Given the description of an element on the screen output the (x, y) to click on. 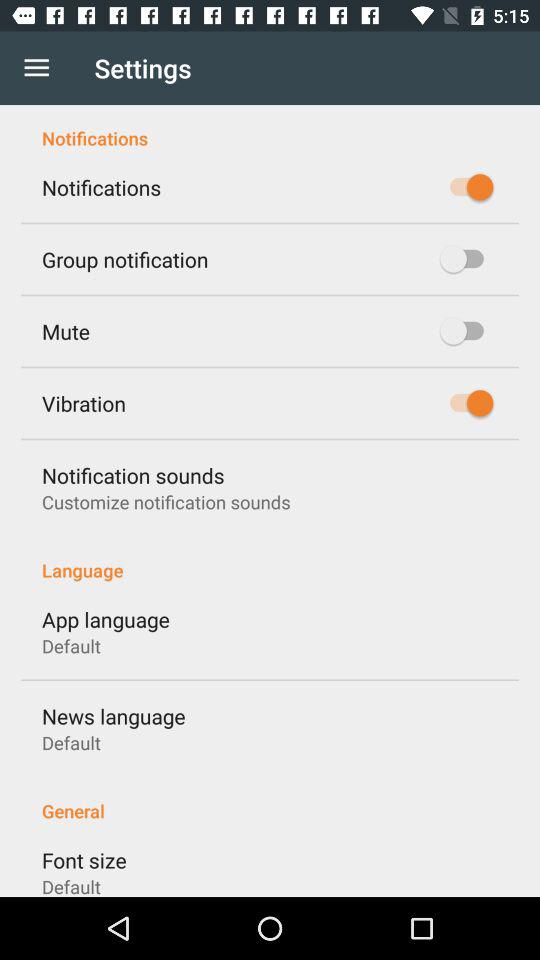
launch item above mute icon (125, 259)
